Given the description of an element on the screen output the (x, y) to click on. 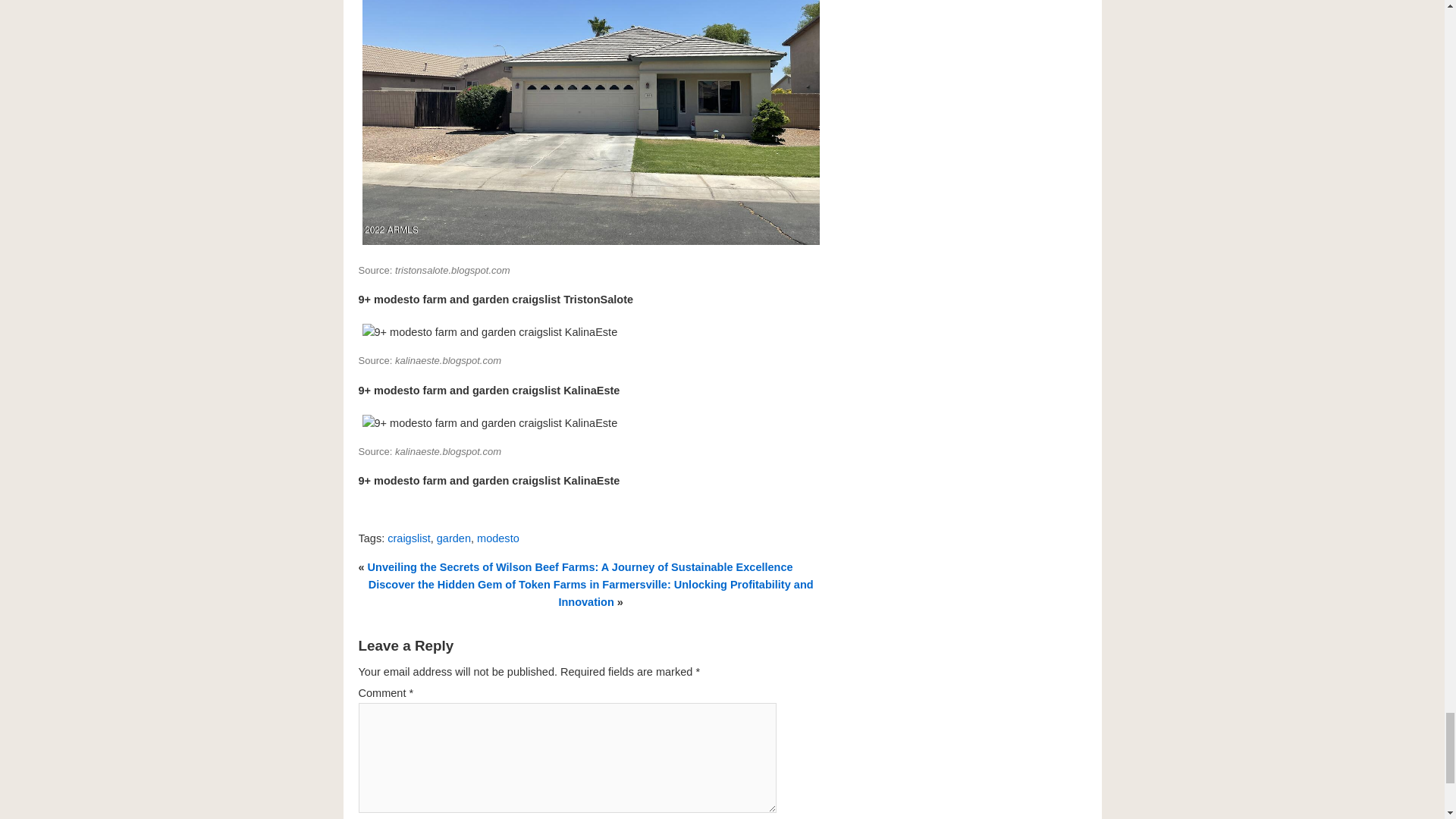
modesto (498, 538)
garden (453, 538)
craigslist (408, 538)
